Given the description of an element on the screen output the (x, y) to click on. 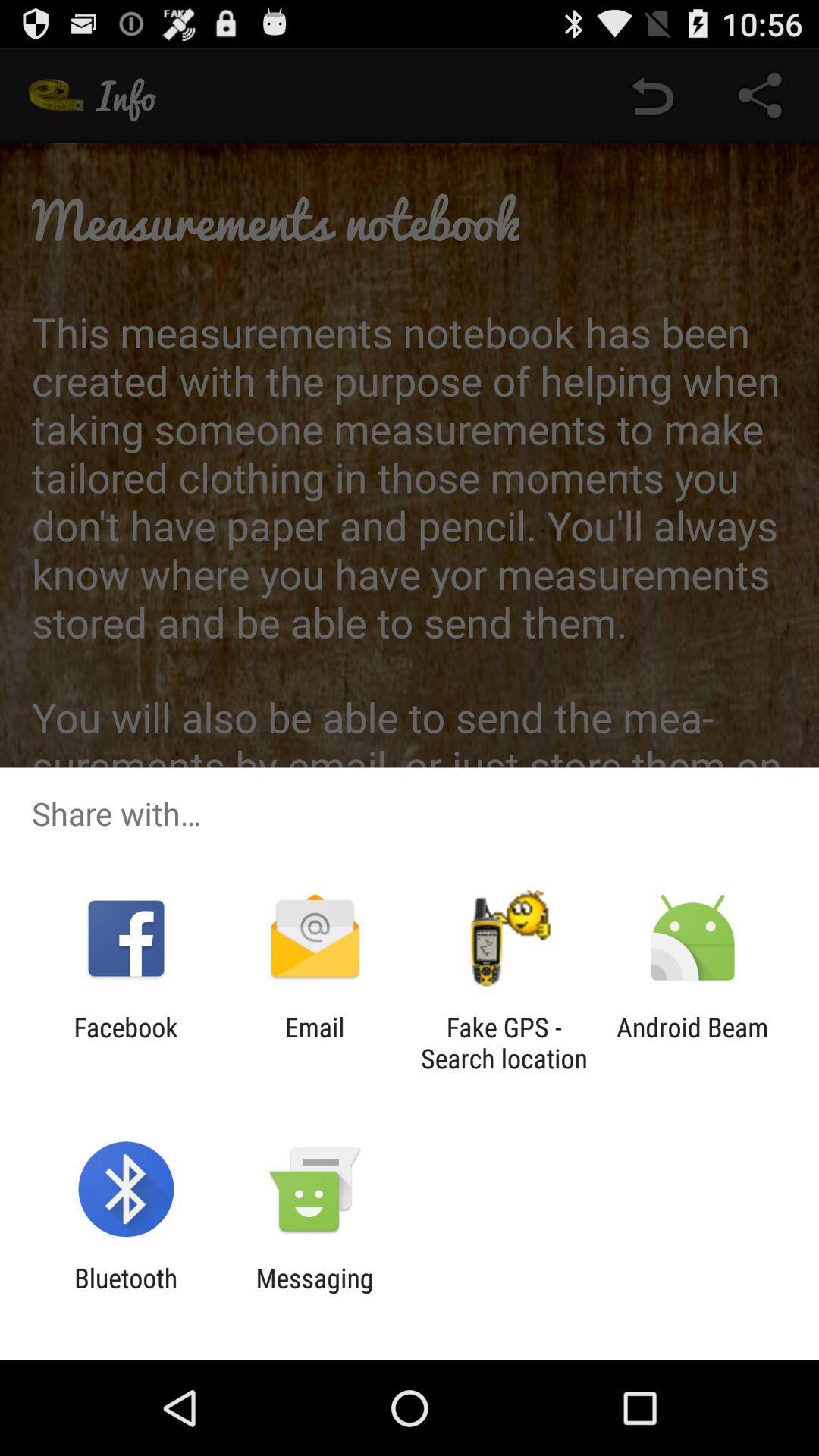
select the item next to the email item (503, 1042)
